Given the description of an element on the screen output the (x, y) to click on. 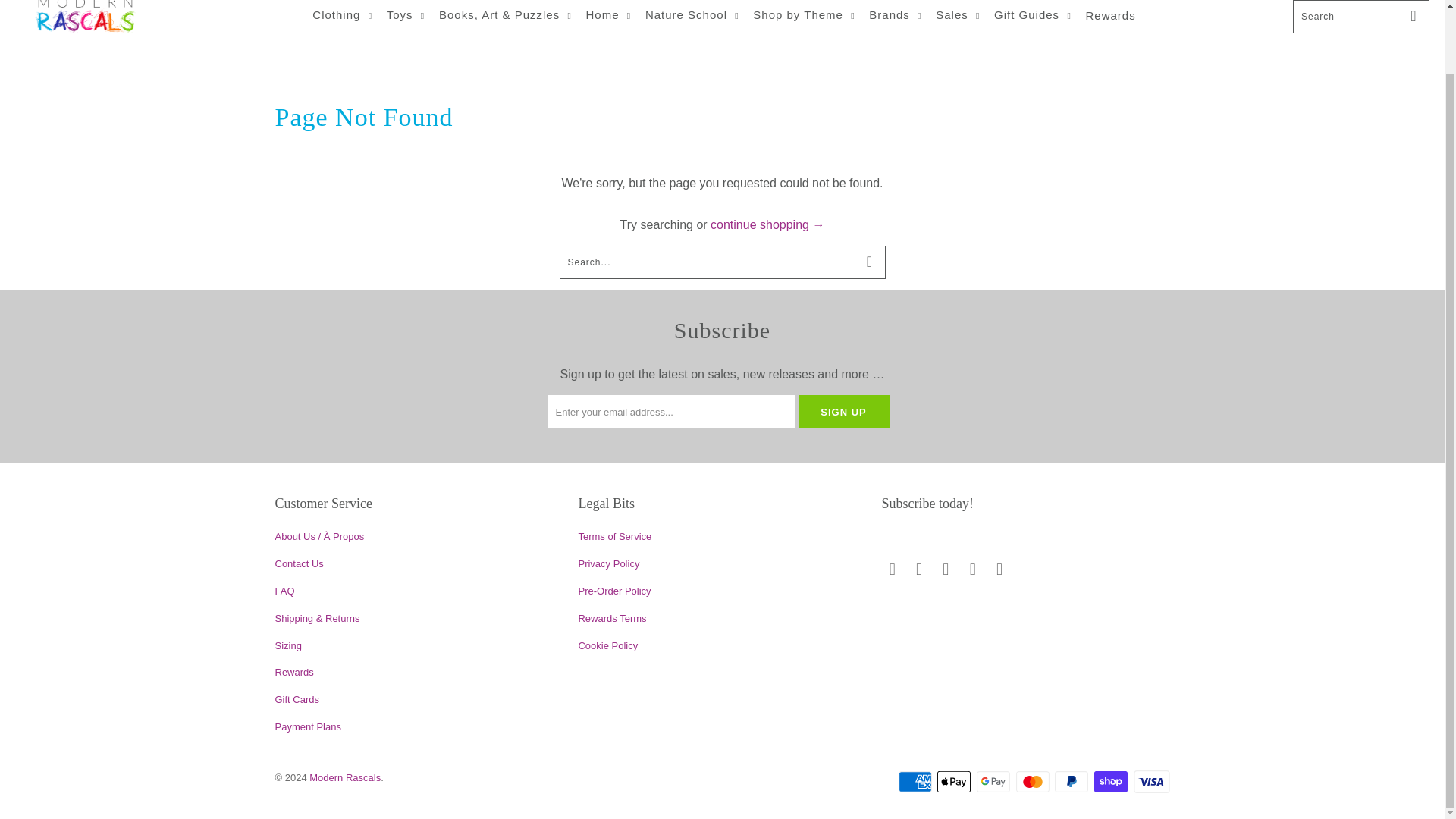
Modern Rascals on Pinterest (972, 569)
Modern Rascals (84, 32)
Sign Up (842, 411)
Modern Rascals on Instagram (946, 569)
Mastercard (1034, 781)
Google Pay (994, 781)
Email Modern Rascals (892, 569)
Apple Pay (955, 781)
American Express (916, 781)
Visa (1150, 781)
Modern Rascals on YouTube (999, 569)
Modern Rascals on Facebook (919, 569)
PayPal (1072, 781)
Shop Pay (1112, 781)
